Given the description of an element on the screen output the (x, y) to click on. 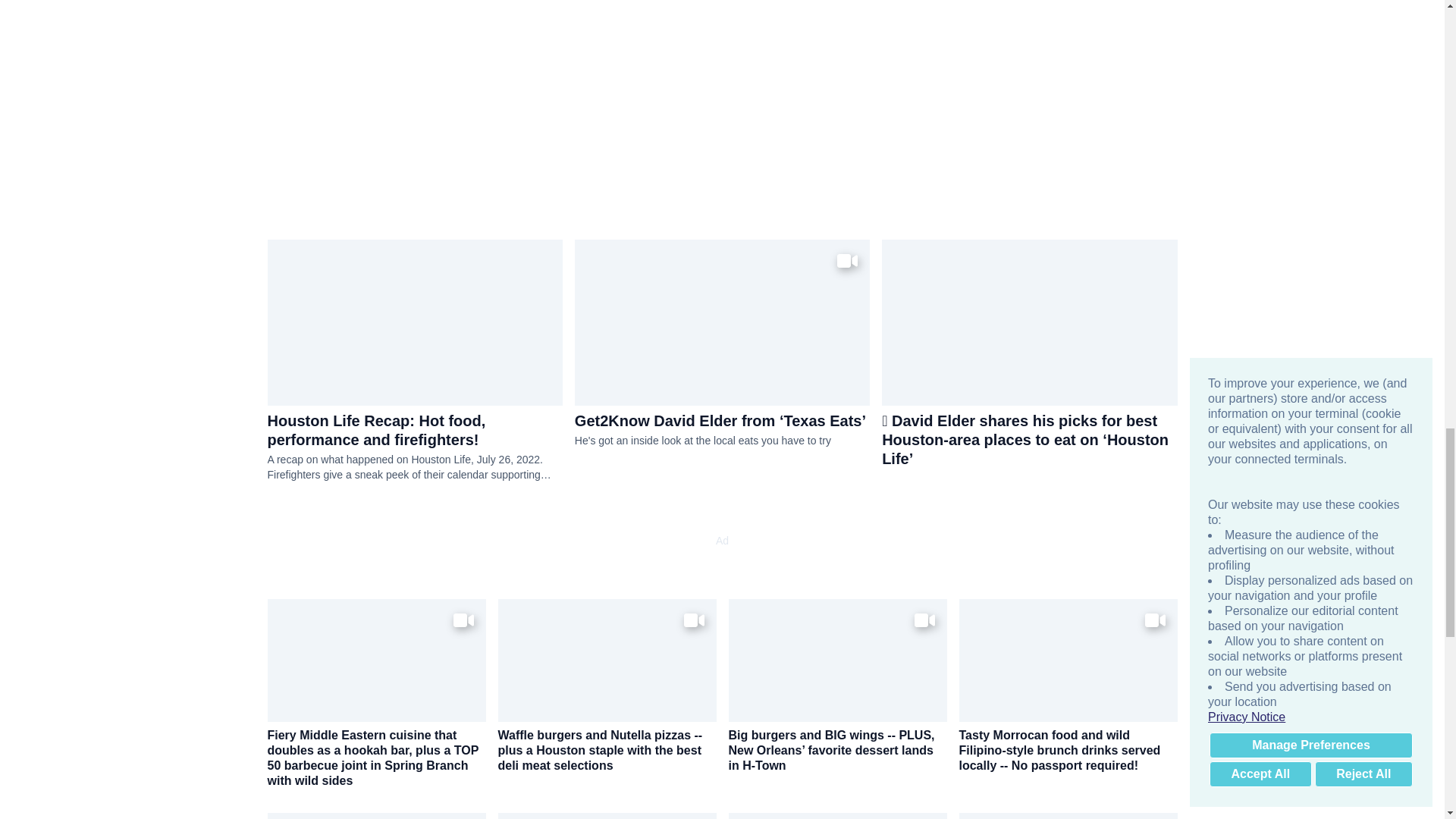
He's got an inside look at the local eats you have to try (722, 440)
